Given the description of an element on the screen output the (x, y) to click on. 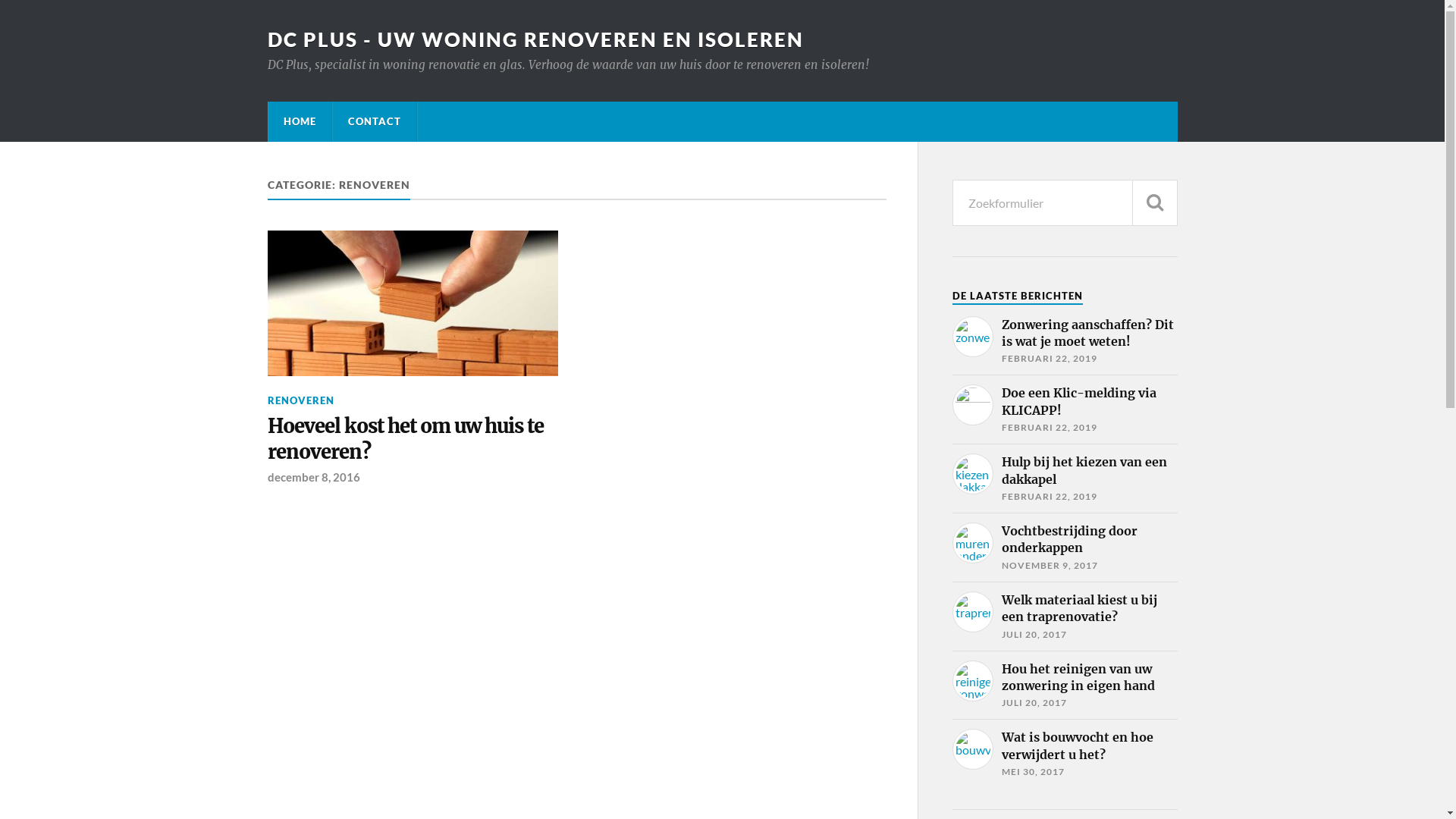
Hulp bij het kiezen van een dakkapel
FEBRUARI 22, 2019 Element type: text (1064, 478)
Hoeveel kost het om uw huis te renoveren? Element type: hover (412, 303)
Wat is bouwvocht en hoe verwijdert u het?
MEI 30, 2017 Element type: text (1064, 753)
HOME Element type: text (299, 121)
december 8, 2016 Element type: text (312, 476)
Doe een Klic-melding via KLICAPP!
FEBRUARI 22, 2019 Element type: text (1064, 409)
Vochtbestrijding door onderkappen
NOVEMBER 9, 2017 Element type: text (1064, 547)
DC PLUS - UW WONING RENOVEREN EN ISOLEREN Element type: text (534, 39)
CONTACT Element type: text (373, 121)
Hoeveel kost het om uw huis te renoveren? Element type: text (412, 439)
RENOVEREN Element type: text (299, 400)
Welk materiaal kiest u bij een traprenovatie?
JULI 20, 2017 Element type: text (1064, 616)
